Given the description of an element on the screen output the (x, y) to click on. 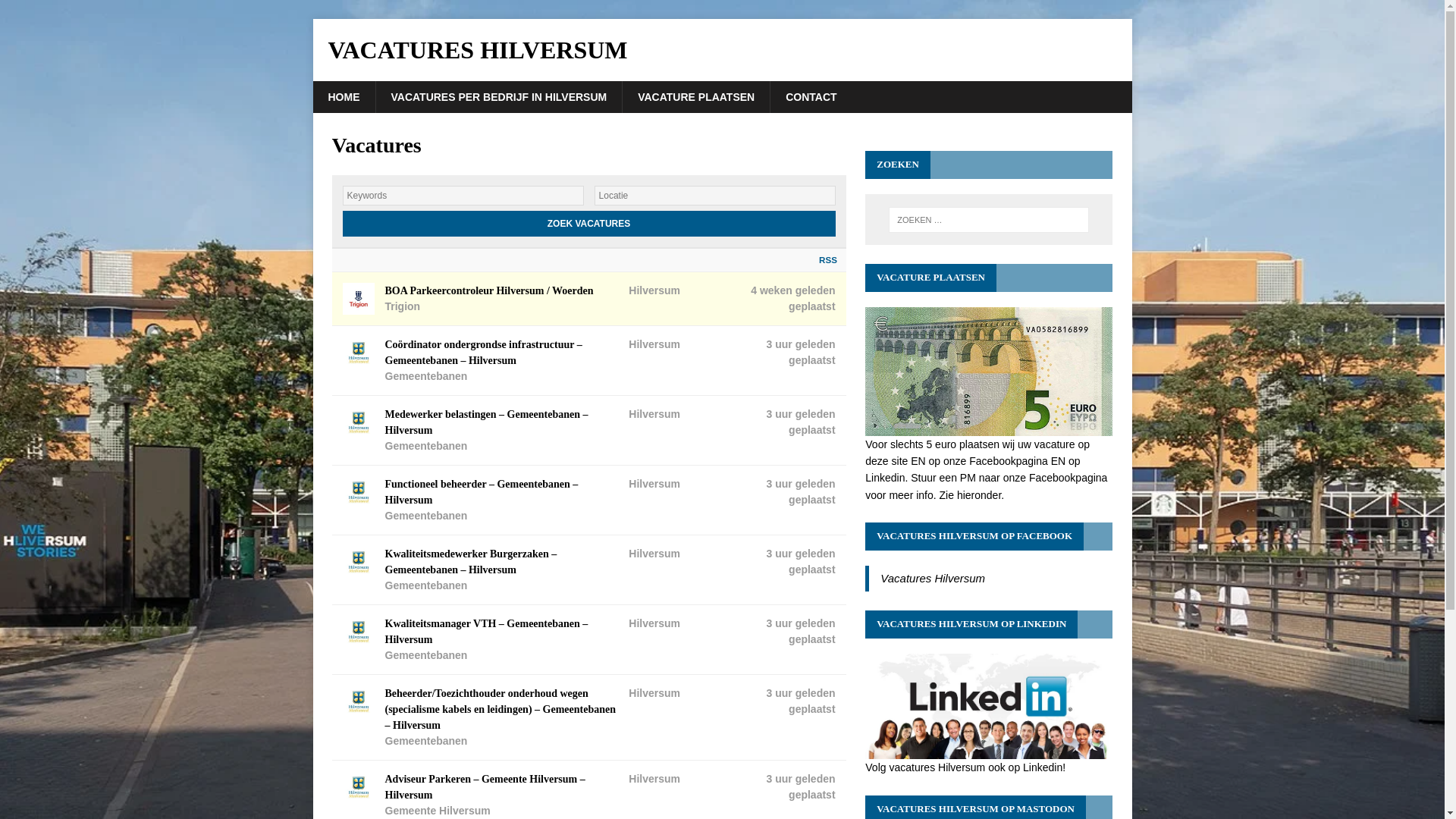
VACATURES PER BEDRIJF IN HILVERSUM (497, 97)
VACATURES HILVERSUM (721, 49)
RSS (823, 260)
Vacatures Hilversum (932, 577)
CONTACT (810, 97)
Zoek vacatures (588, 223)
Vacatures Hilversum (721, 49)
Zoek vacatures (588, 223)
VACATURE PLAATSEN (695, 97)
Zoeken (56, 11)
Volg vacatures Hilversum ook op Linkedin! (988, 758)
HOME (343, 97)
